Given the description of an element on the screen output the (x, y) to click on. 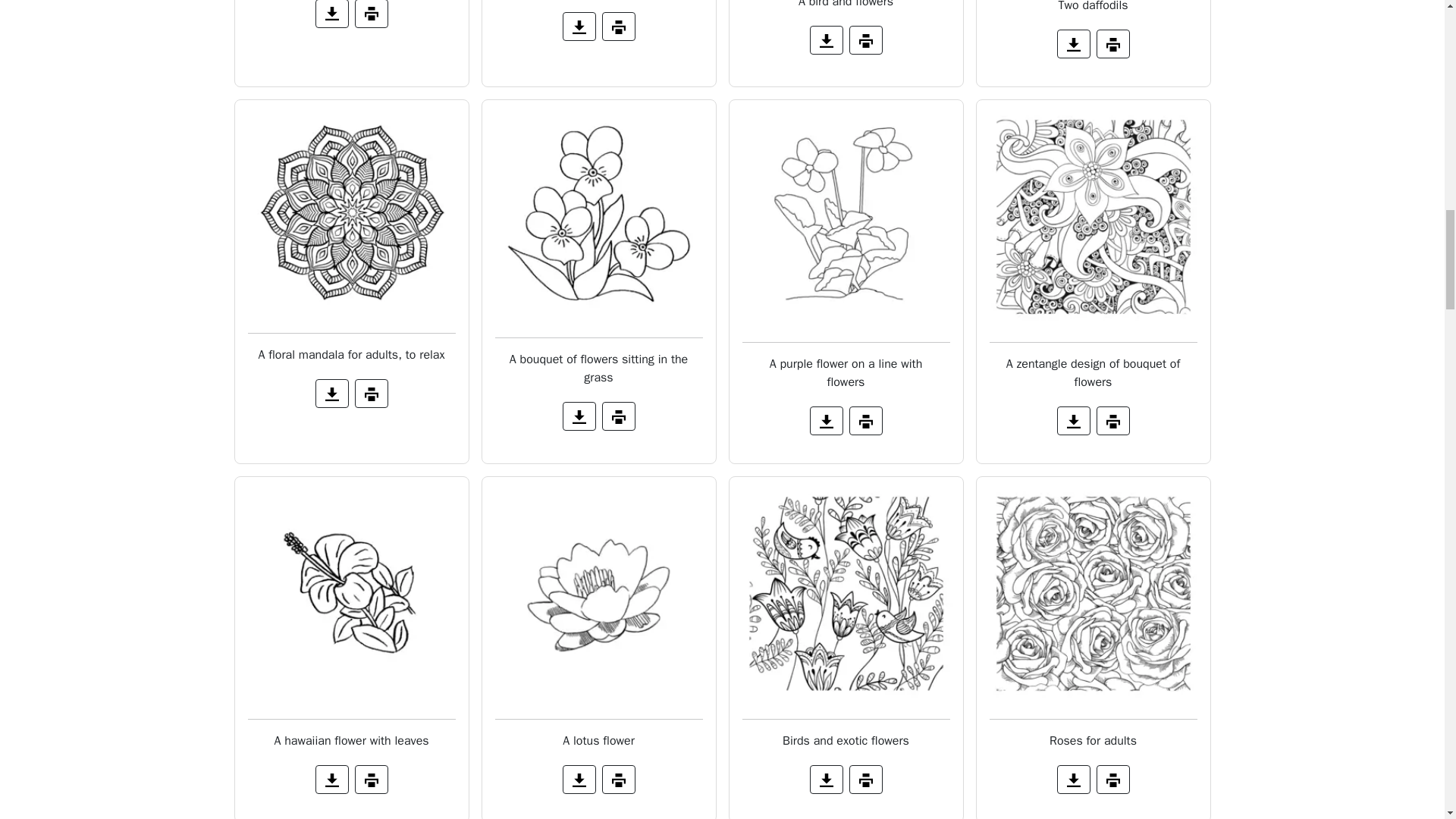
Download the coloring page (826, 39)
Print the coloring page (371, 393)
Print the coloring page (865, 39)
Download the coloring page (1073, 43)
Download the coloring page (578, 26)
Download the coloring page (332, 13)
Print the coloring page (618, 26)
Print the coloring page (1112, 43)
Download the coloring page (332, 393)
Print the coloring page (371, 13)
